Given the description of an element on the screen output the (x, y) to click on. 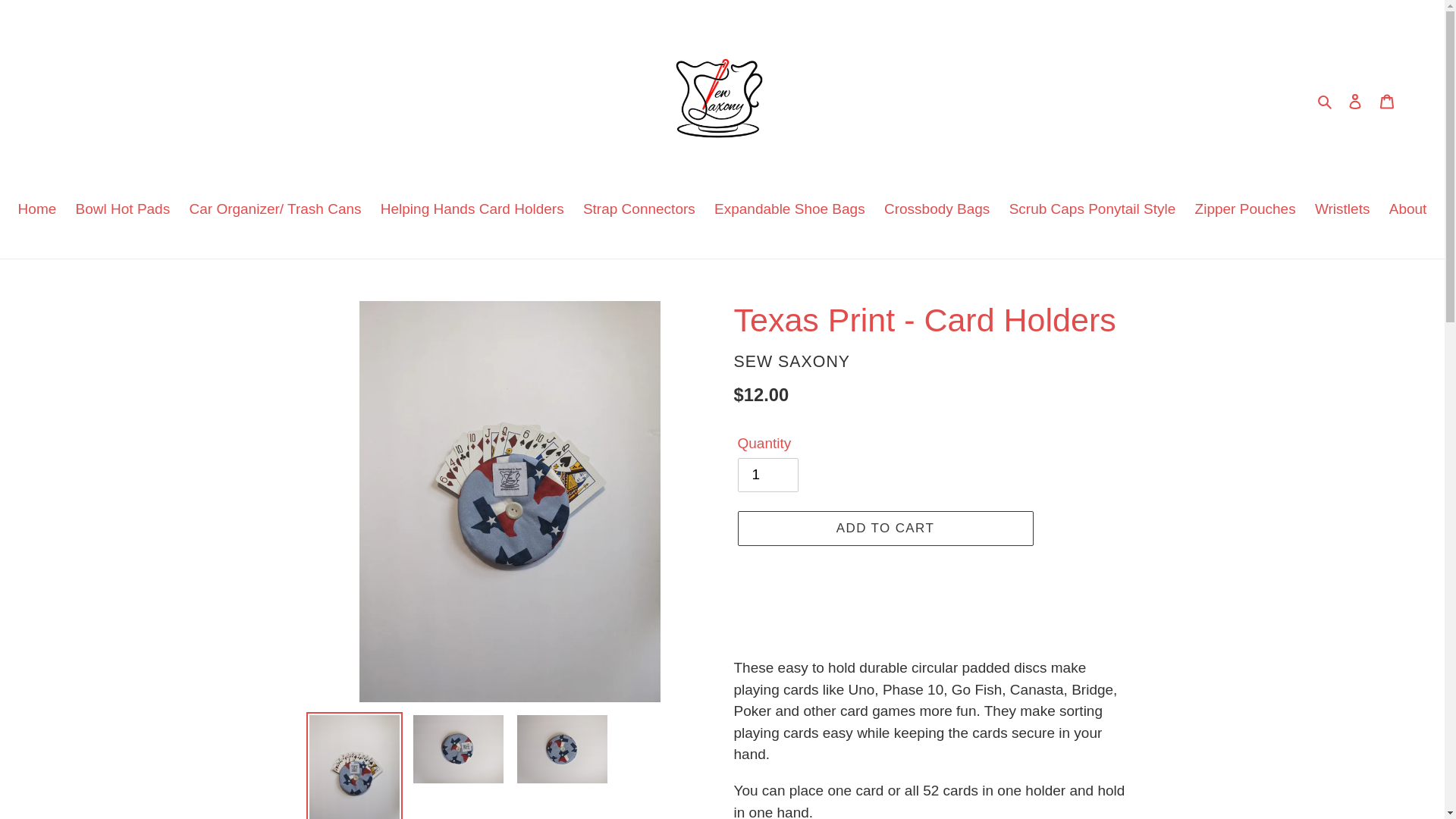
Wristlets (1342, 210)
Expandable Shoe Bags (789, 210)
1 (766, 474)
Zipper Pouches (1245, 210)
Crossbody Bags (936, 210)
Bowl Hot Pads (122, 210)
Helping Hands Card Holders (472, 210)
Strap Connectors (639, 210)
Scrub Caps Ponytail Style (1092, 210)
Home (37, 210)
